Given the description of an element on the screen output the (x, y) to click on. 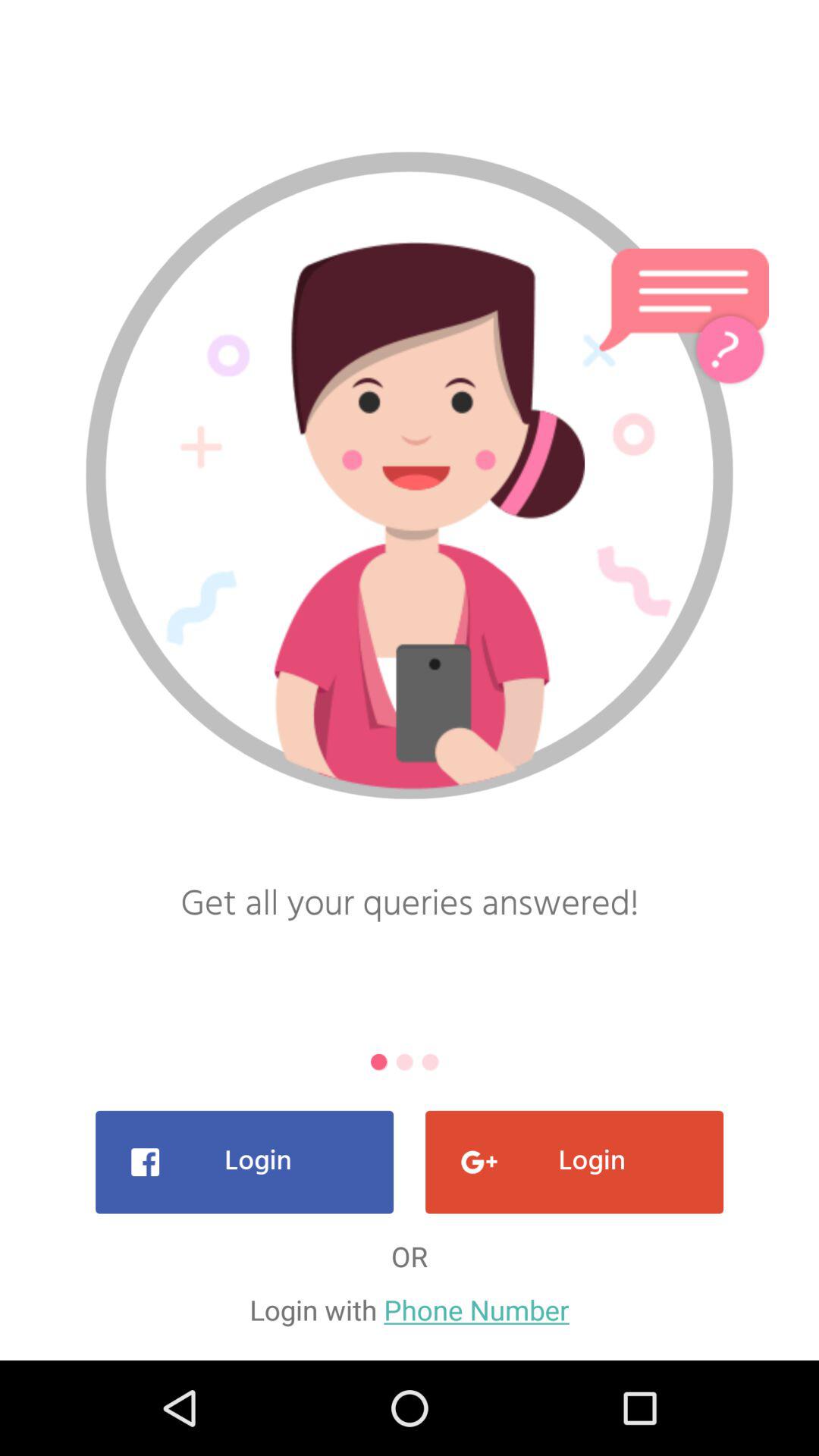
click on the image (409, 515)
click on login with phone number (409, 1310)
click on the login button (244, 1162)
click on the chat option in the image (684, 303)
click on the question mark option in the image (729, 348)
